Given the description of an element on the screen output the (x, y) to click on. 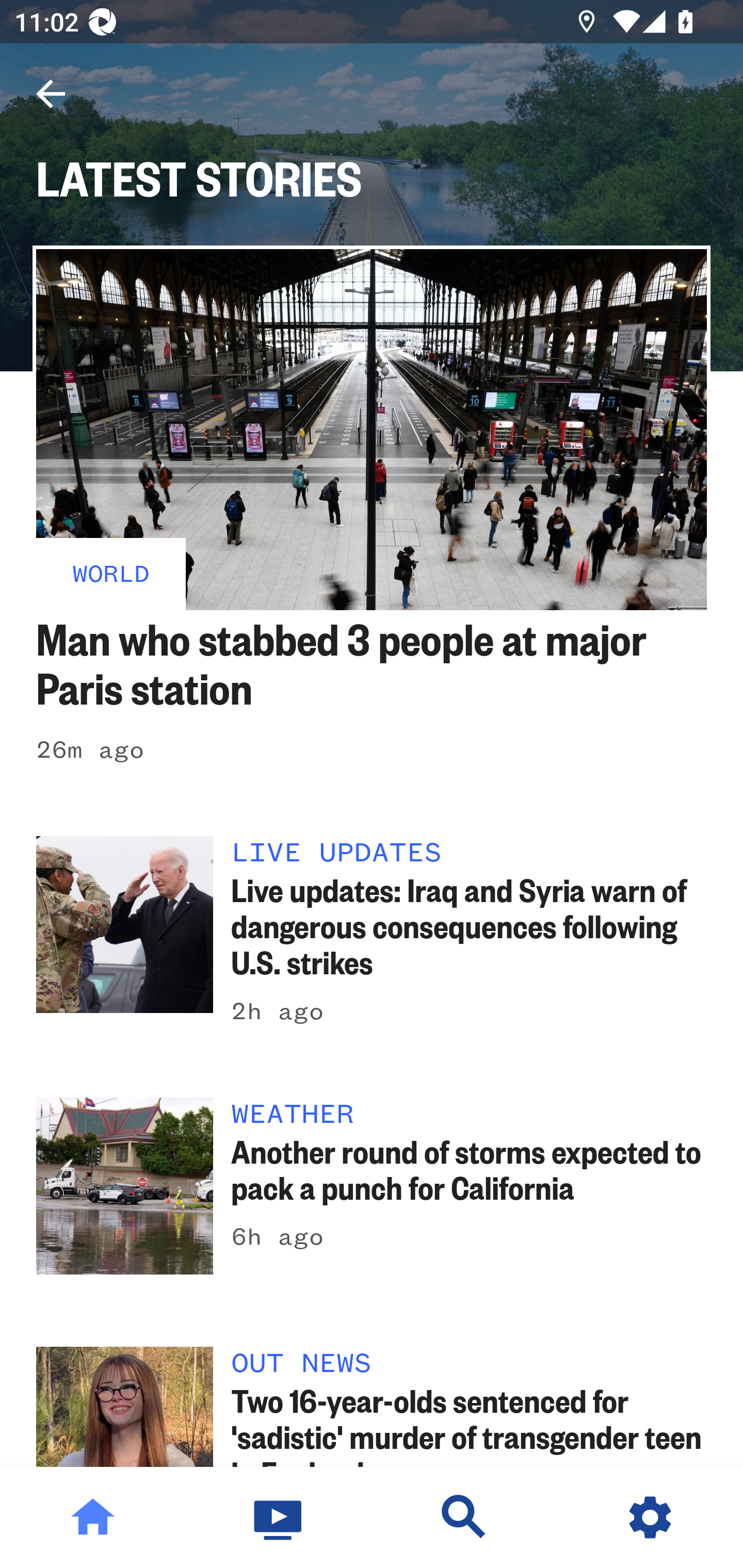
Navigate up (50, 93)
Watch (278, 1517)
Discover (464, 1517)
Settings (650, 1517)
